Given the description of an element on the screen output the (x, y) to click on. 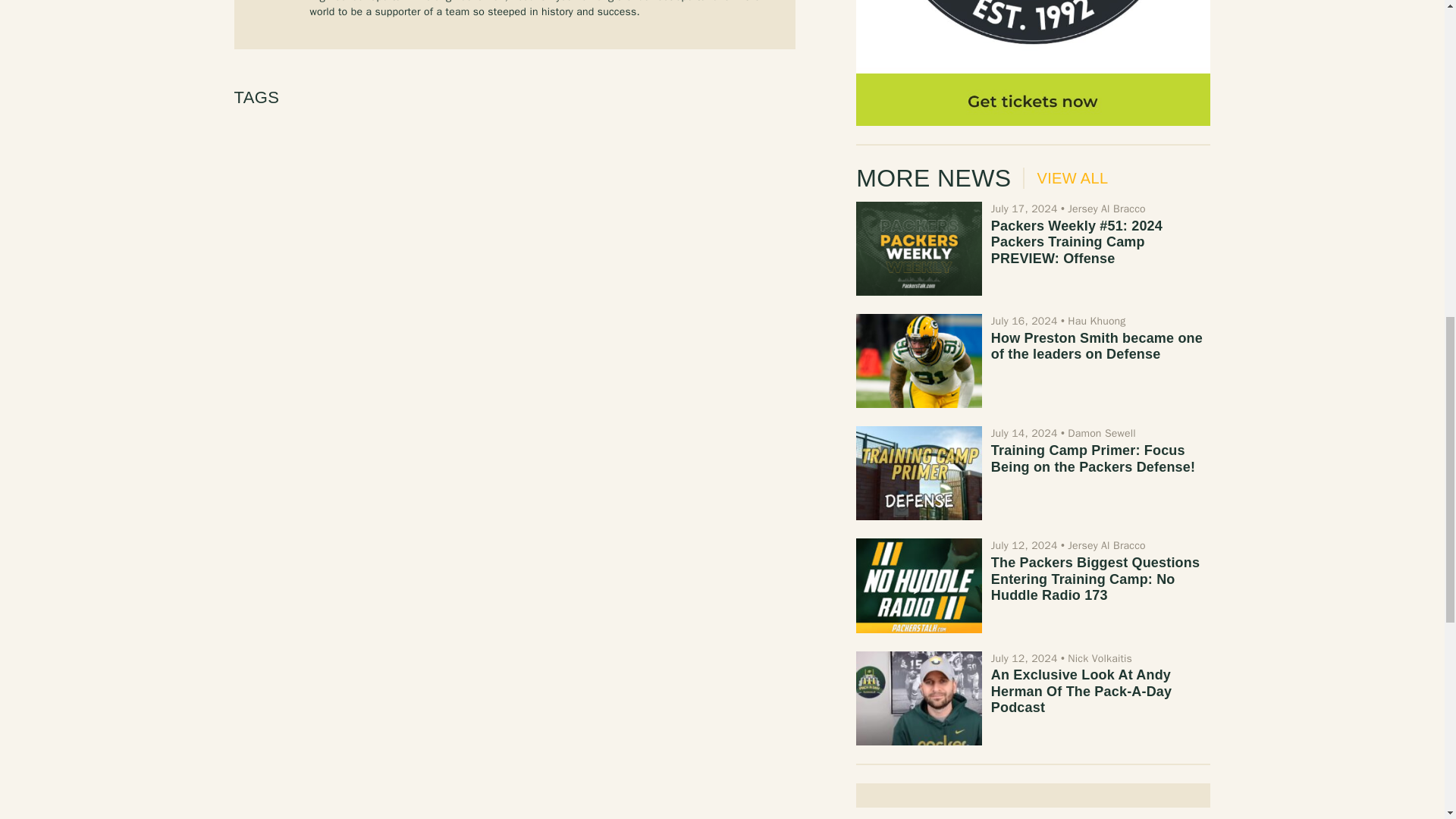
Hau Khuong (1096, 320)
Jersey Al Bracco (1105, 545)
Training Camp Primer: Focus Being on the Packers Defense! (1093, 459)
Training Camp Primer: Focus Being on the Packers Defense! (918, 472)
VIEW ALL (1065, 178)
Training Camp Primer: Focus Being on the Packers Defense! (1093, 459)
How Preston Smith became one of the leaders on Defense (1096, 346)
Nick Volkaitis (1099, 658)
An Exclusive Look At Andy Herman Of The Pack-A-Day Podcast (918, 698)
How Preston Smith became one of the leaders on Defense (918, 360)
An Exclusive Look At Andy Herman Of The Pack-A-Day Podcast (1081, 690)
How Preston Smith became one of the leaders on Defense (1096, 346)
